Given the description of an element on the screen output the (x, y) to click on. 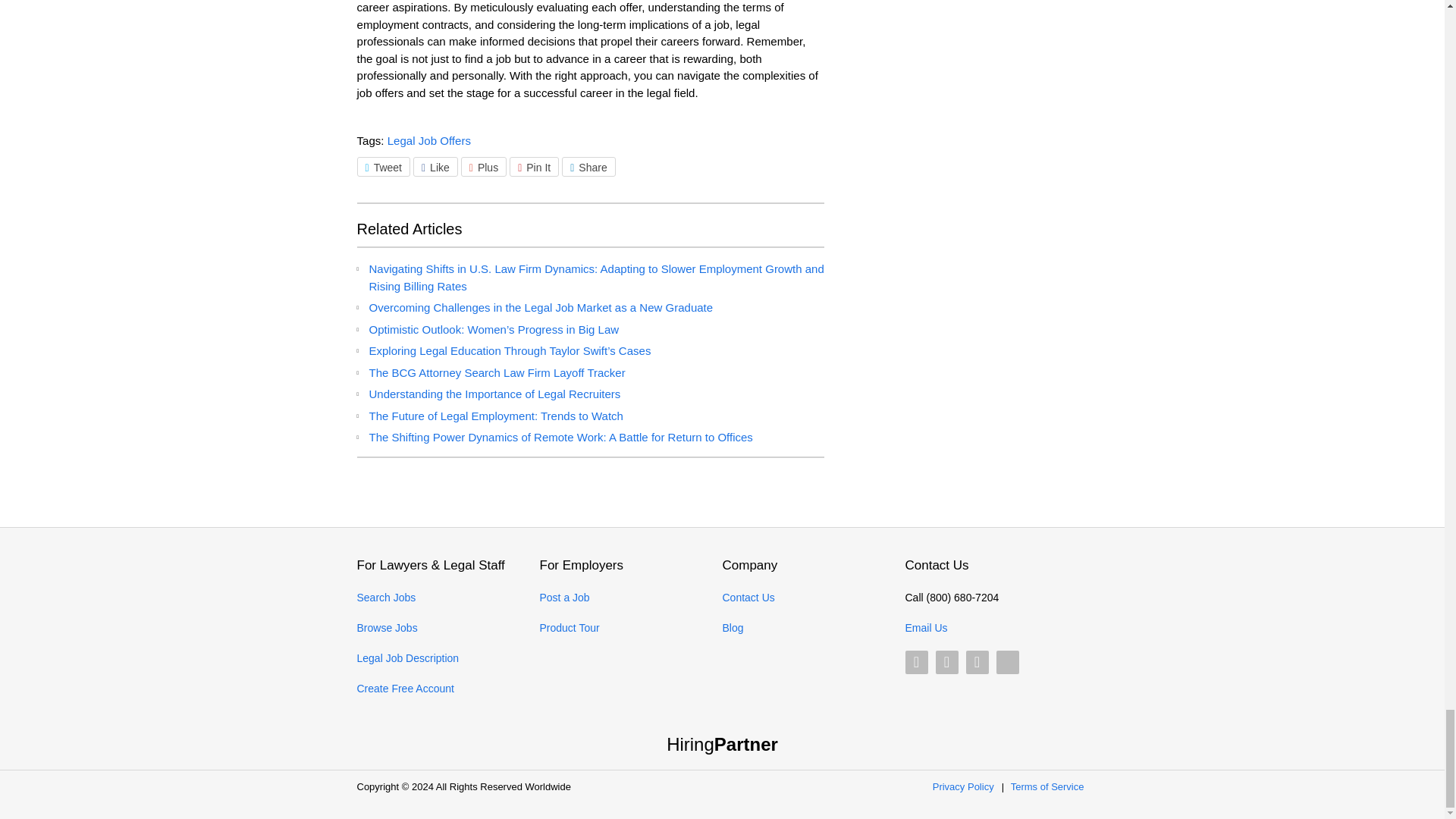
Pin It (534, 166)
Like (435, 166)
Tweet (382, 166)
Legal Job Offers (428, 140)
The BCG Attorney Search Law Firm Layoff Tracker (496, 372)
Plus (483, 166)
Share (588, 166)
Understanding the Importance of Legal Recruiters (494, 393)
